Given the description of an element on the screen output the (x, y) to click on. 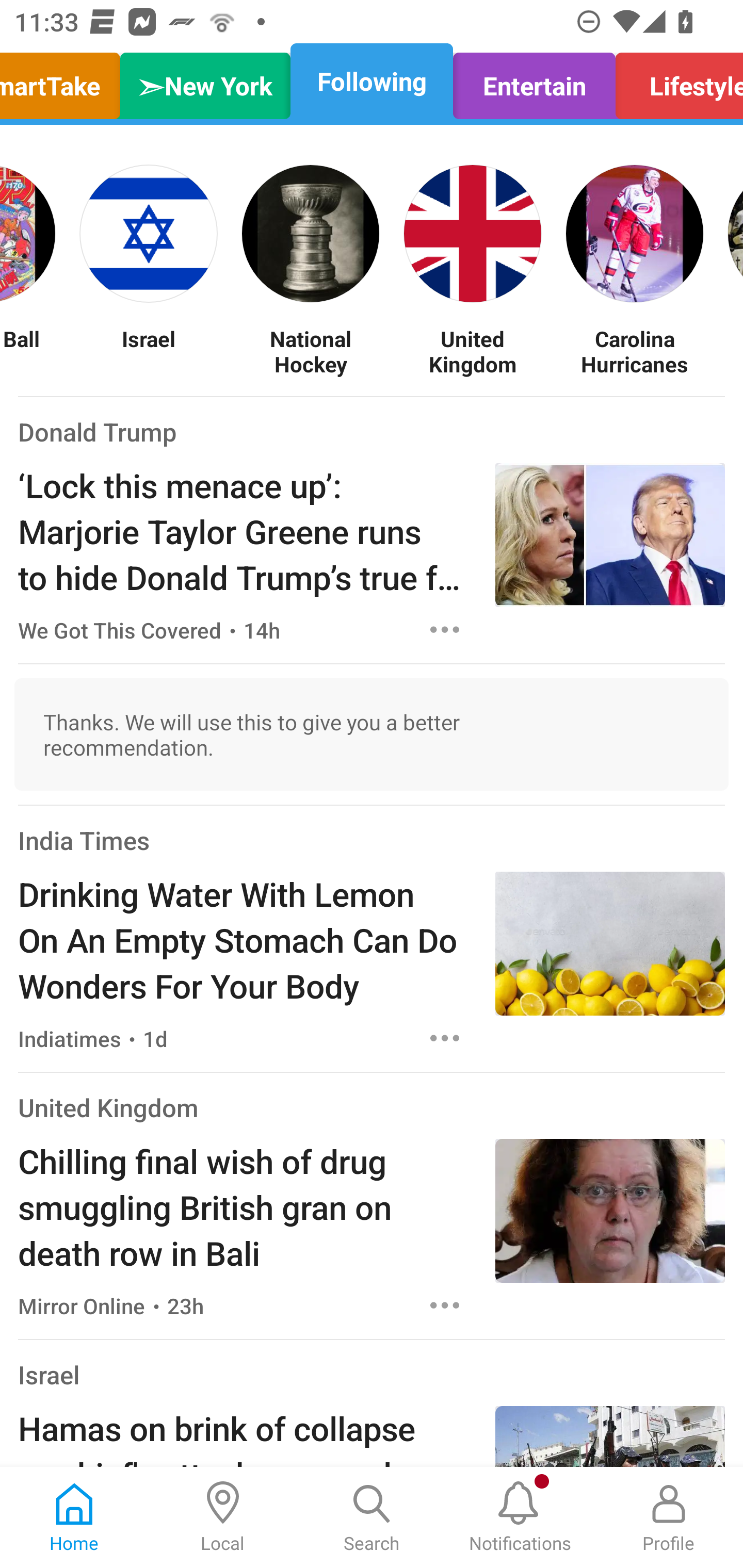
➣New York (205, 81)
Following (371, 81)
Entertain (534, 81)
Israel (148, 350)
National Hockey League (310, 350)
United Kingdom (472, 350)
Carolina Hurricanes (634, 350)
Donald Trump (97, 430)
Options (444, 629)
India Times (83, 840)
Options (444, 1037)
United Kingdom (107, 1106)
Options (444, 1305)
Israel (48, 1374)
Local (222, 1517)
Search (371, 1517)
Notifications, New notification Notifications (519, 1517)
Profile (668, 1517)
